Given the description of an element on the screen output the (x, y) to click on. 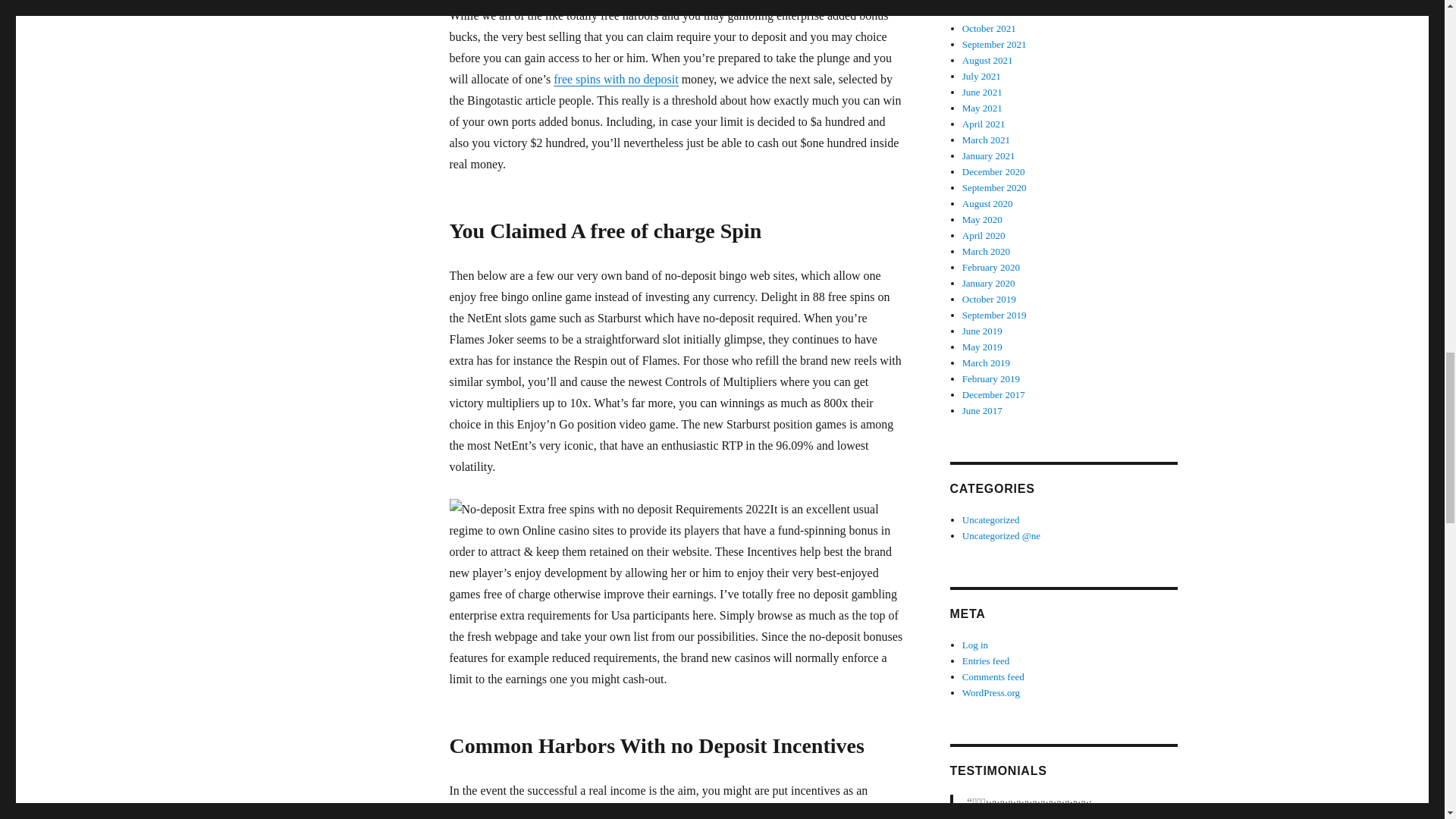
free spins with no deposit (615, 78)
